Given the description of an element on the screen output the (x, y) to click on. 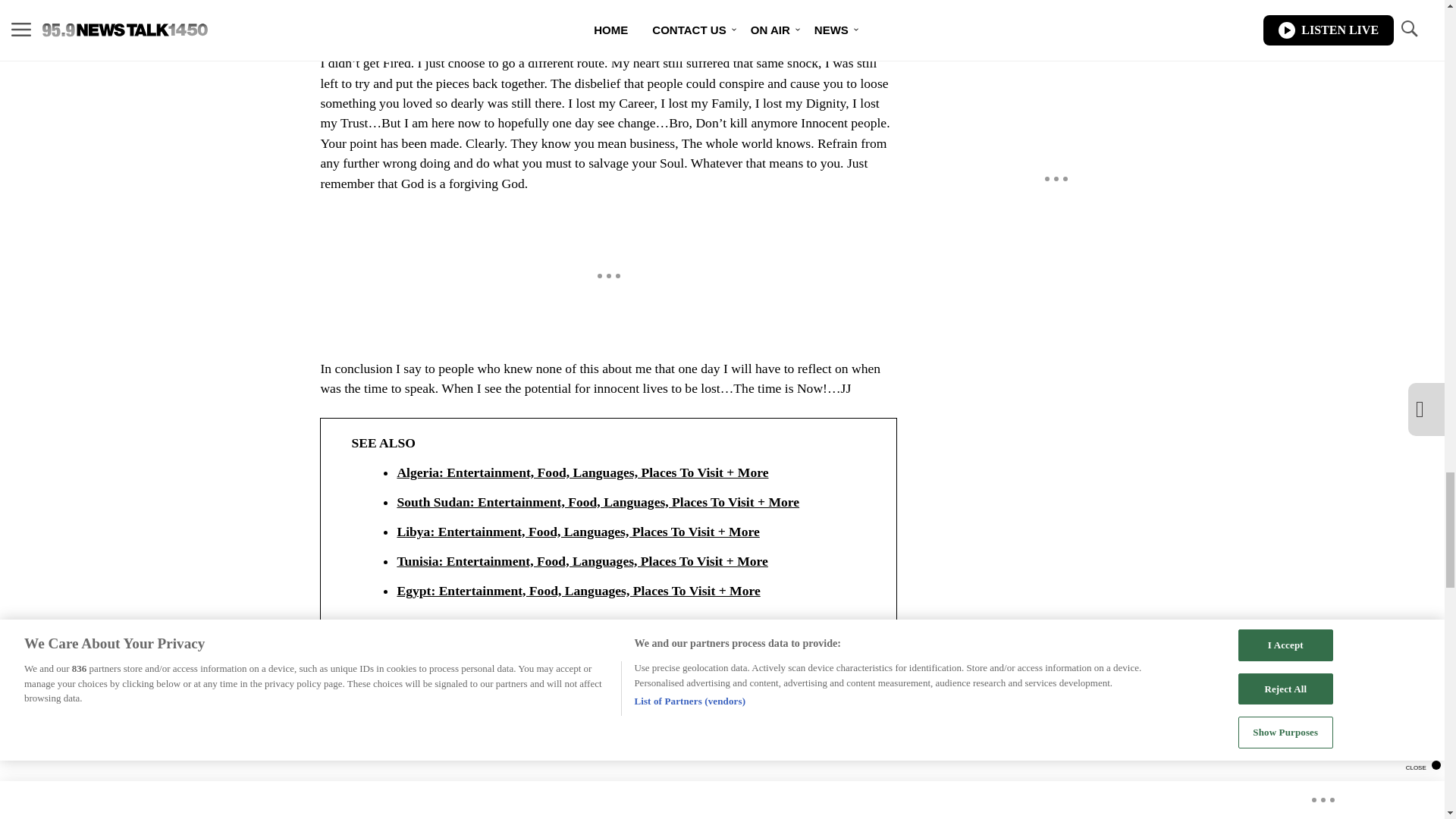
newsone.com (371, 663)
JOE JONES (357, 740)
